Given the description of an element on the screen output the (x, y) to click on. 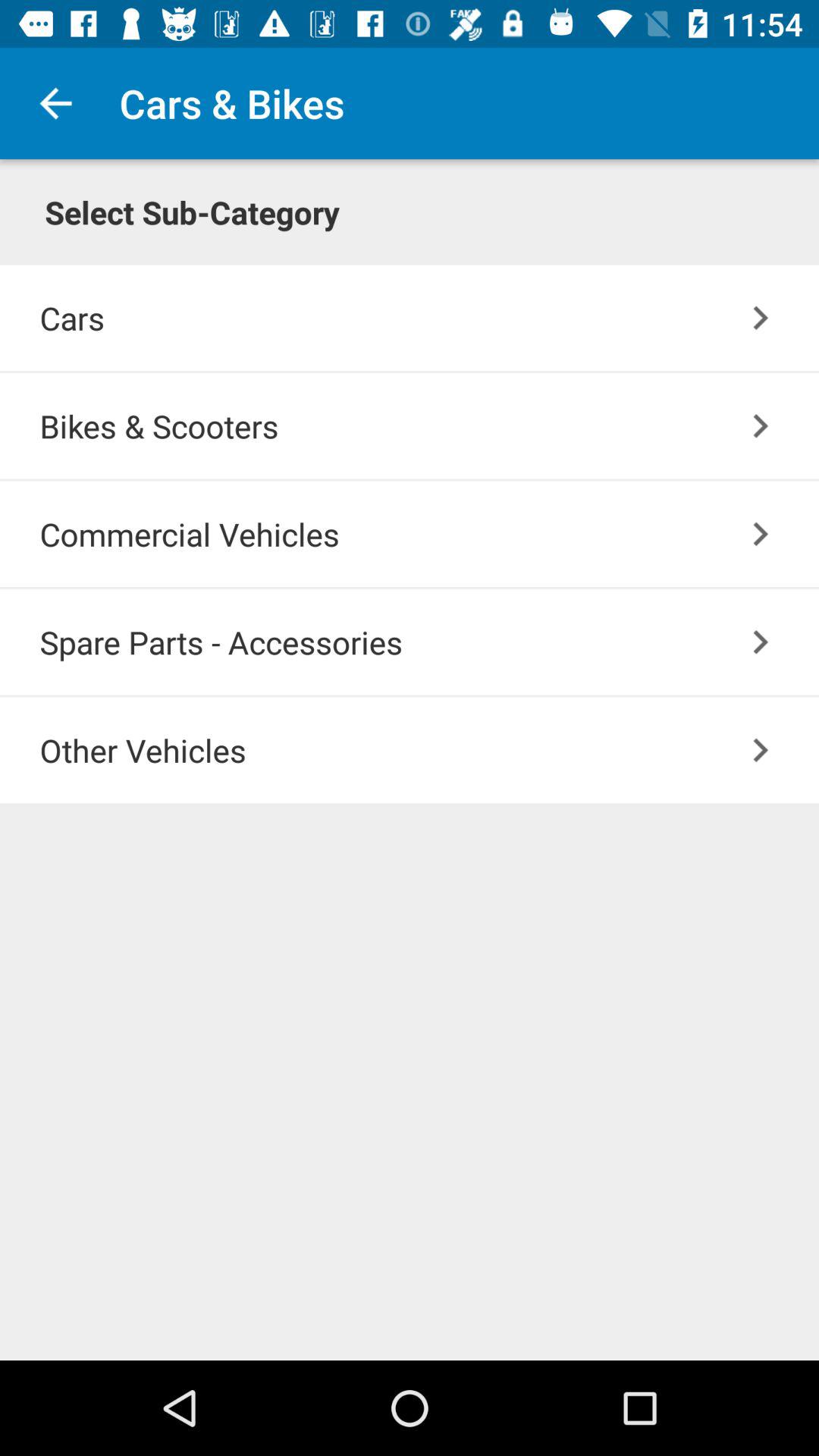
click the icon above spare parts - accessories (429, 533)
